Given the description of an element on the screen output the (x, y) to click on. 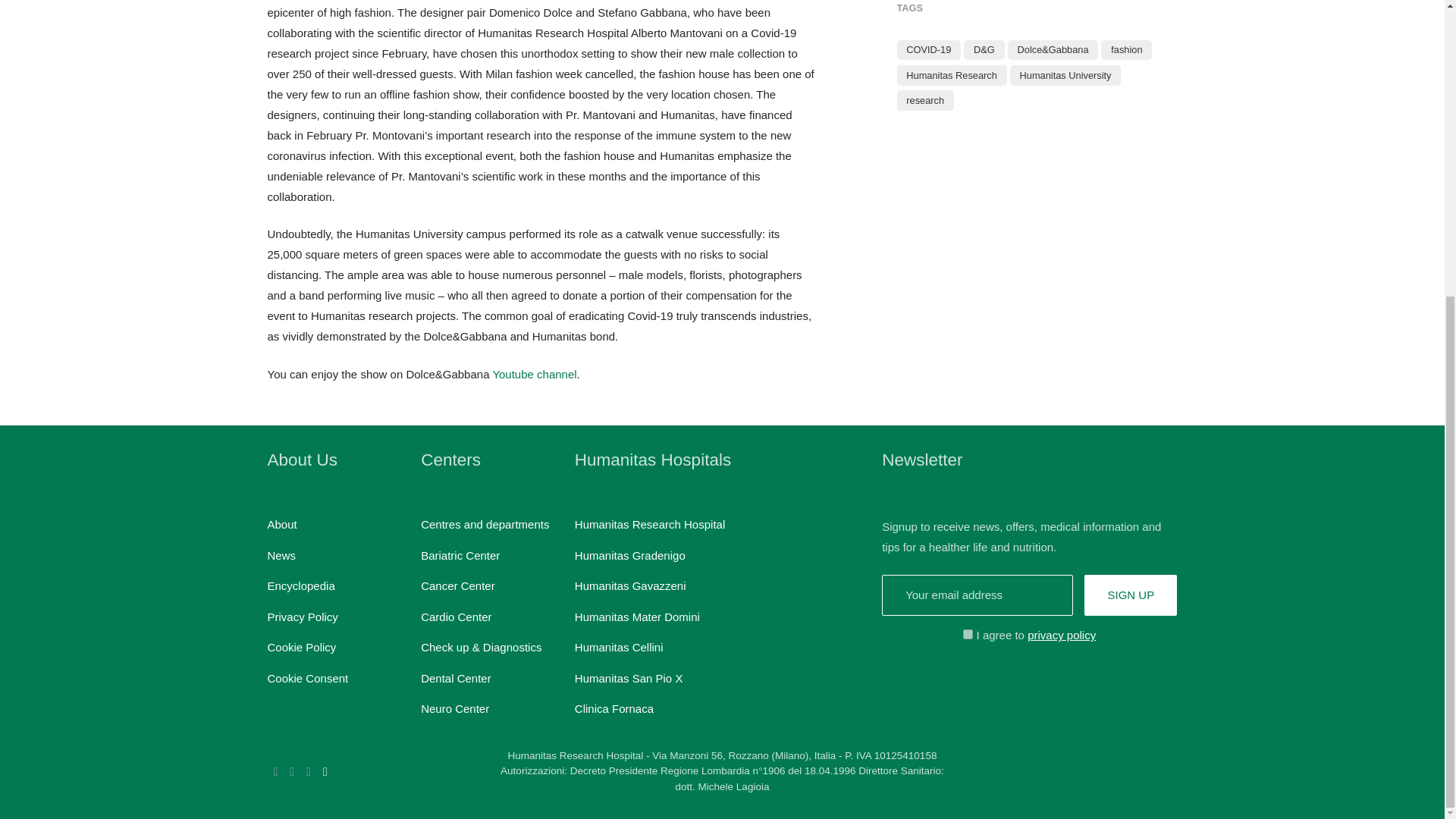
Privacy Policy (301, 616)
News (280, 554)
Youtube channel (534, 373)
Humanitas Research (951, 75)
Humanitas University (1066, 75)
on (967, 634)
Encyclopedia (300, 585)
fashion (1125, 49)
COVID-19 (927, 49)
Sign up (1130, 595)
research (924, 100)
About (281, 523)
Cookie Policy (301, 646)
